Given the description of an element on the screen output the (x, y) to click on. 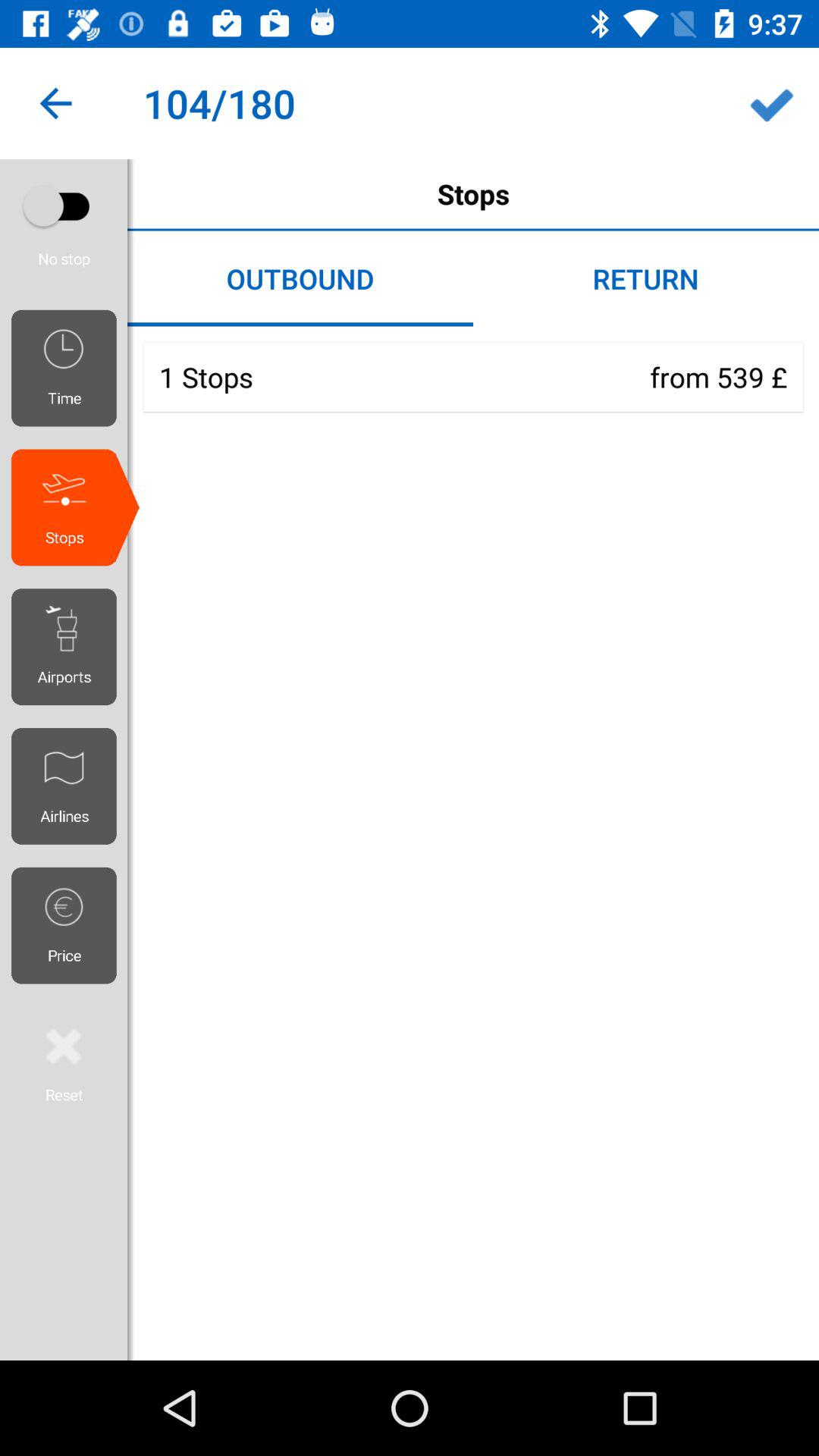
show only non-stop flights (63, 206)
